Given the description of an element on the screen output the (x, y) to click on. 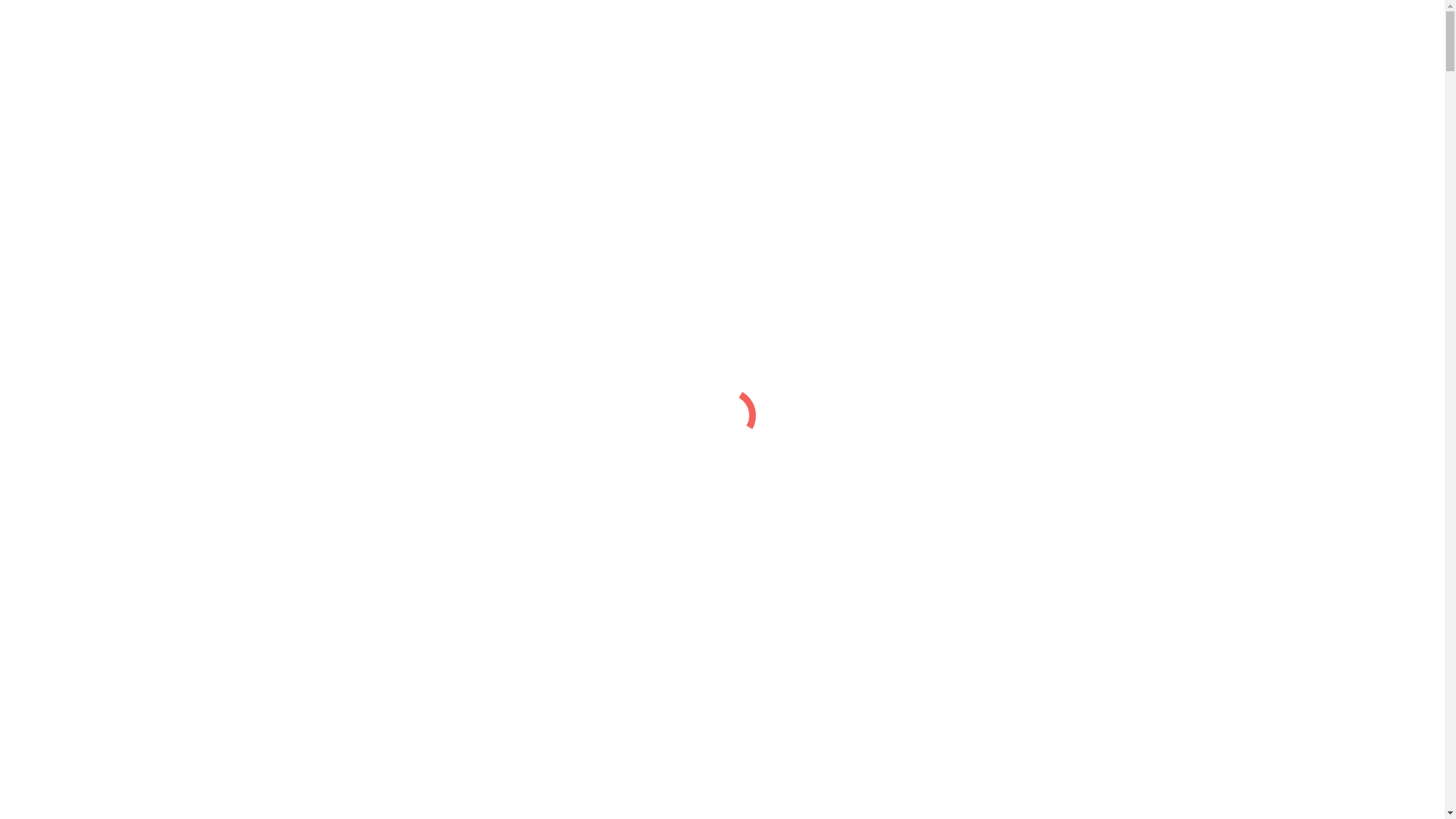
Home Element type: text (50, 253)
Team Element type: text (49, 161)
Team Element type: text (49, 294)
Contact Element type: text (55, 335)
Project Element type: text (53, 449)
Home Element type: text (50, 120)
Our Process Element type: text (65, 308)
Dribbble page opens in new window Element type: text (447, 228)
Blog Element type: text (47, 188)
Services Element type: text (56, 147)
Twitter page opens in new window Element type: text (272, 228)
Facebook page opens in new window Element type: text (97, 228)
Skip to content Element type: text (42, 12)
Blog Element type: text (47, 322)
Home Element type: text (50, 435)
Services Element type: text (56, 281)
About Agency Element type: text (71, 134)
Our Process Element type: text (65, 175)
Contact Element type: text (55, 202)
About Agency Element type: text (71, 267)
